Given the description of an element on the screen output the (x, y) to click on. 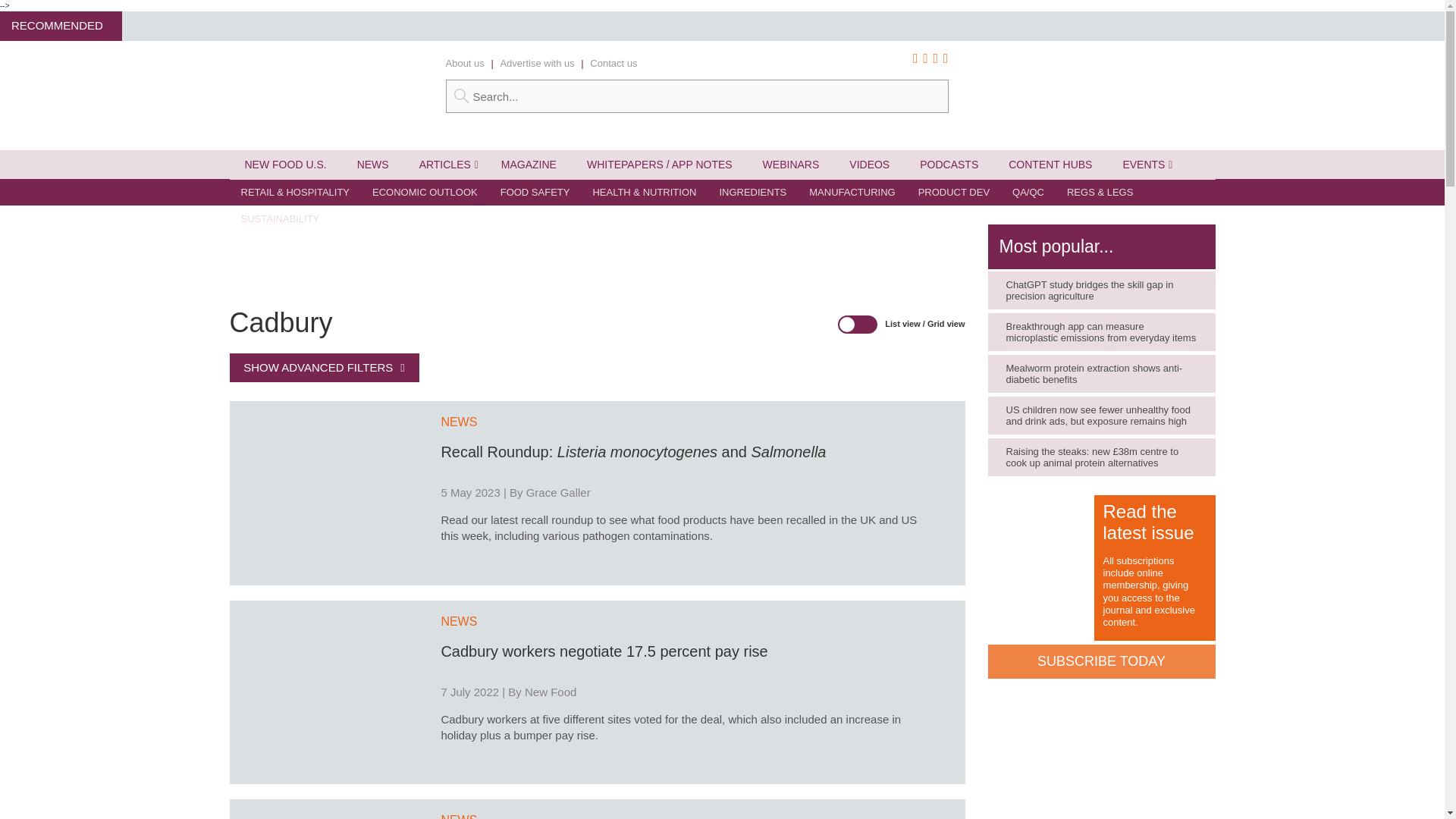
ARTICLES (445, 164)
Advertise with us (536, 62)
VIDEOS (869, 164)
Contact us (613, 62)
NEWS (373, 164)
WEBINARS (791, 164)
PODCASTS (948, 164)
EVENTS (1142, 164)
MANUFACTURING (851, 192)
Search (697, 96)
